Given the description of an element on the screen output the (x, y) to click on. 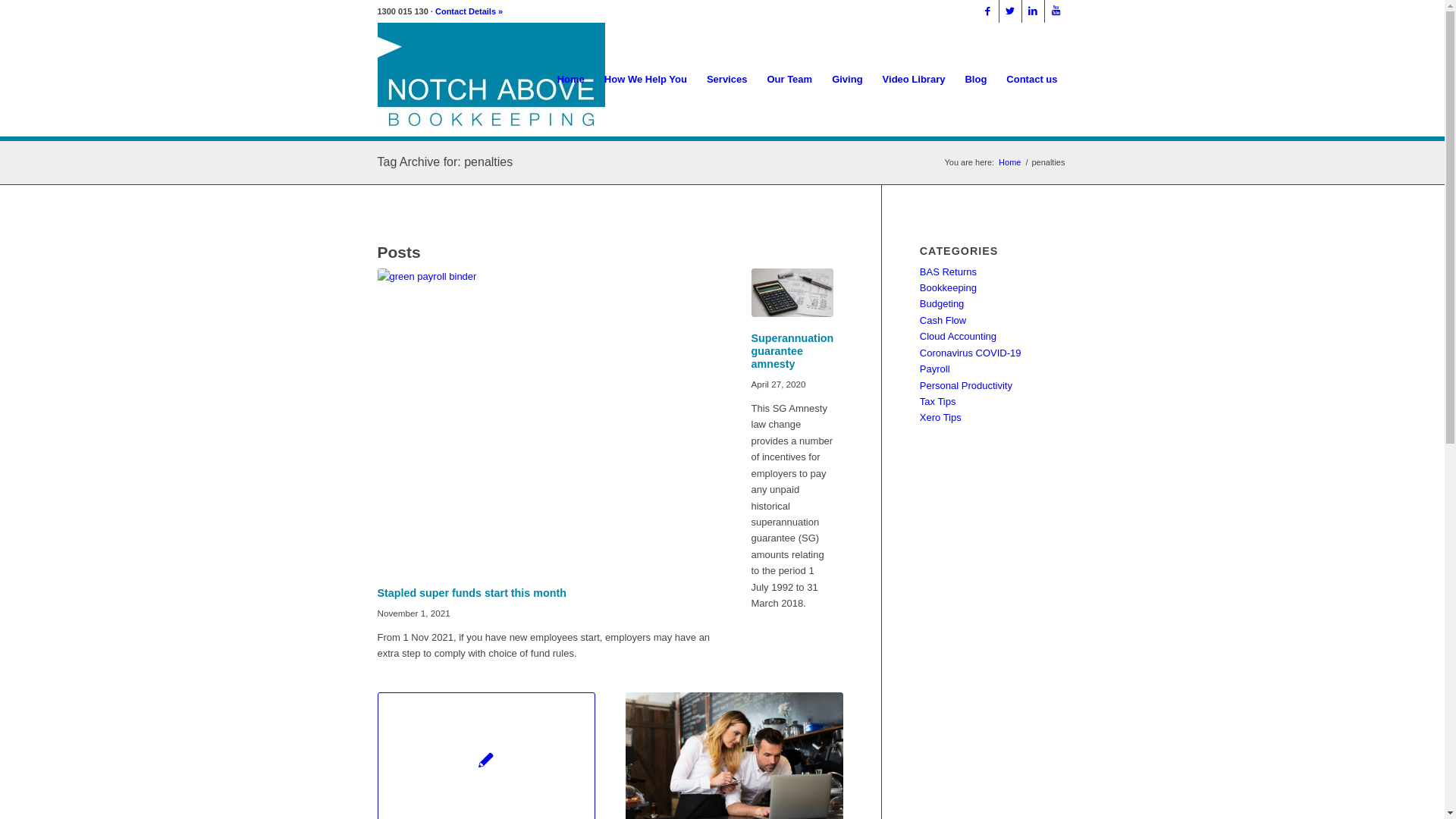
Xero Tips Element type: text (940, 417)
Our Team Element type: text (789, 79)
Facebook Element type: hover (987, 11)
Stapled super funds start this month Element type: text (471, 592)
Cloud Accounting Element type: text (957, 336)
Blog Element type: text (975, 79)
Budgeting Element type: text (941, 303)
Personal Productivity Element type: text (965, 385)
Youtube Element type: hover (1055, 11)
Services Element type: text (726, 79)
LinkedIn Element type: hover (1033, 11)
Home Element type: text (570, 79)
Home Element type: text (1009, 162)
Coronavirus COVID-19 Element type: text (970, 352)
Tax Tips Element type: text (937, 401)
Twitter Element type: hover (1010, 11)
How We Help You Element type: text (645, 79)
Superannuation guarantee amnesty Element type: hover (791, 292)
Payroll Element type: text (934, 368)
Tag Archive for: penalties Element type: text (445, 161)
Superannuation guarantee amnesty Element type: text (791, 351)
Contact us Element type: text (1031, 79)
Video Library Element type: text (913, 79)
Bookkeeping Element type: text (947, 287)
Cash Flow Element type: text (942, 320)
BAS Returns Element type: text (947, 271)
Stapled super funds start this month Element type: hover (549, 419)
Giving Element type: text (847, 79)
